Given the description of an element on the screen output the (x, y) to click on. 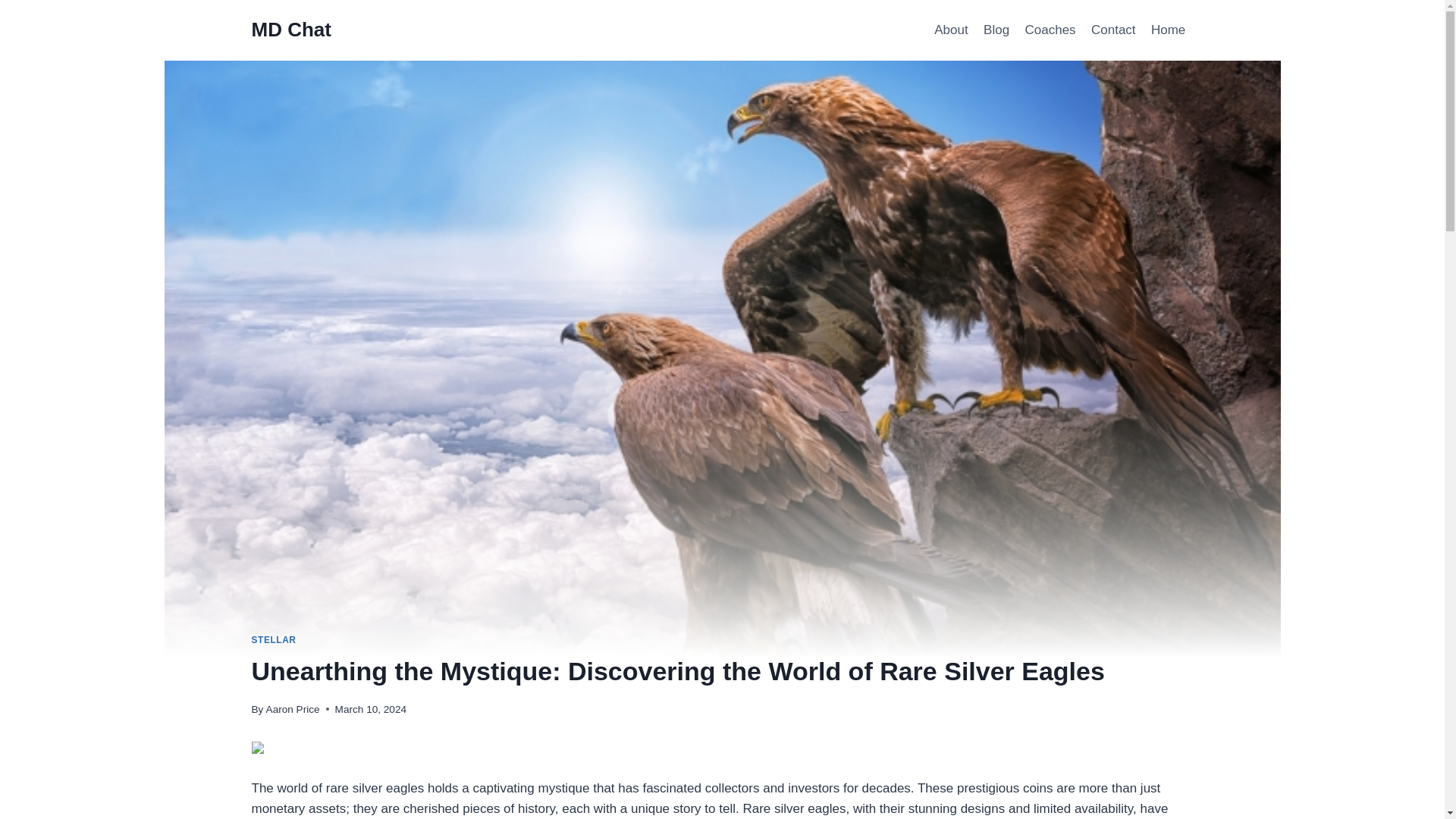
About (950, 30)
STELLAR (274, 639)
Coaches (1049, 30)
MD Chat (291, 29)
Aaron Price (293, 708)
Contact (1112, 30)
Home (1167, 30)
Blog (995, 30)
